Given the description of an element on the screen output the (x, y) to click on. 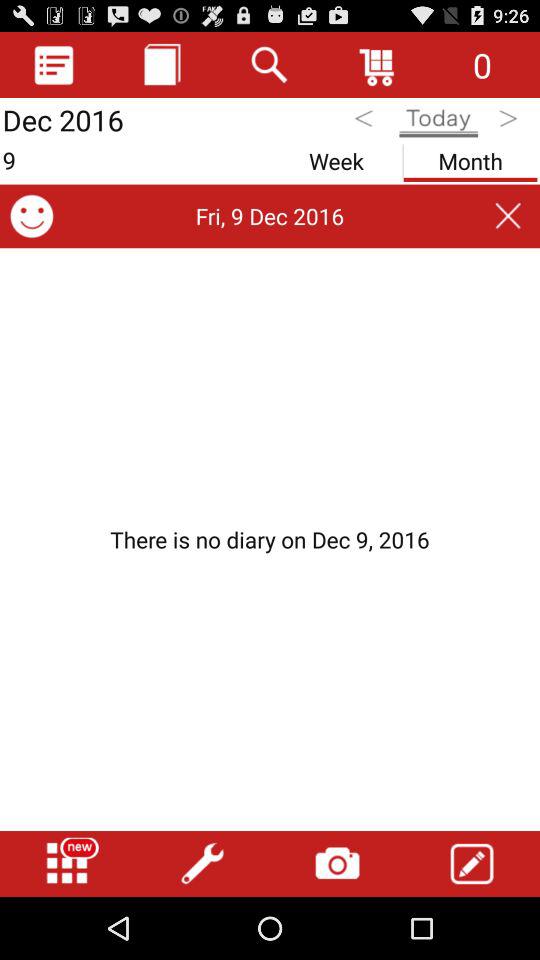
select the icon to the left of the fri 9 dec item (31, 215)
